Given the description of an element on the screen output the (x, y) to click on. 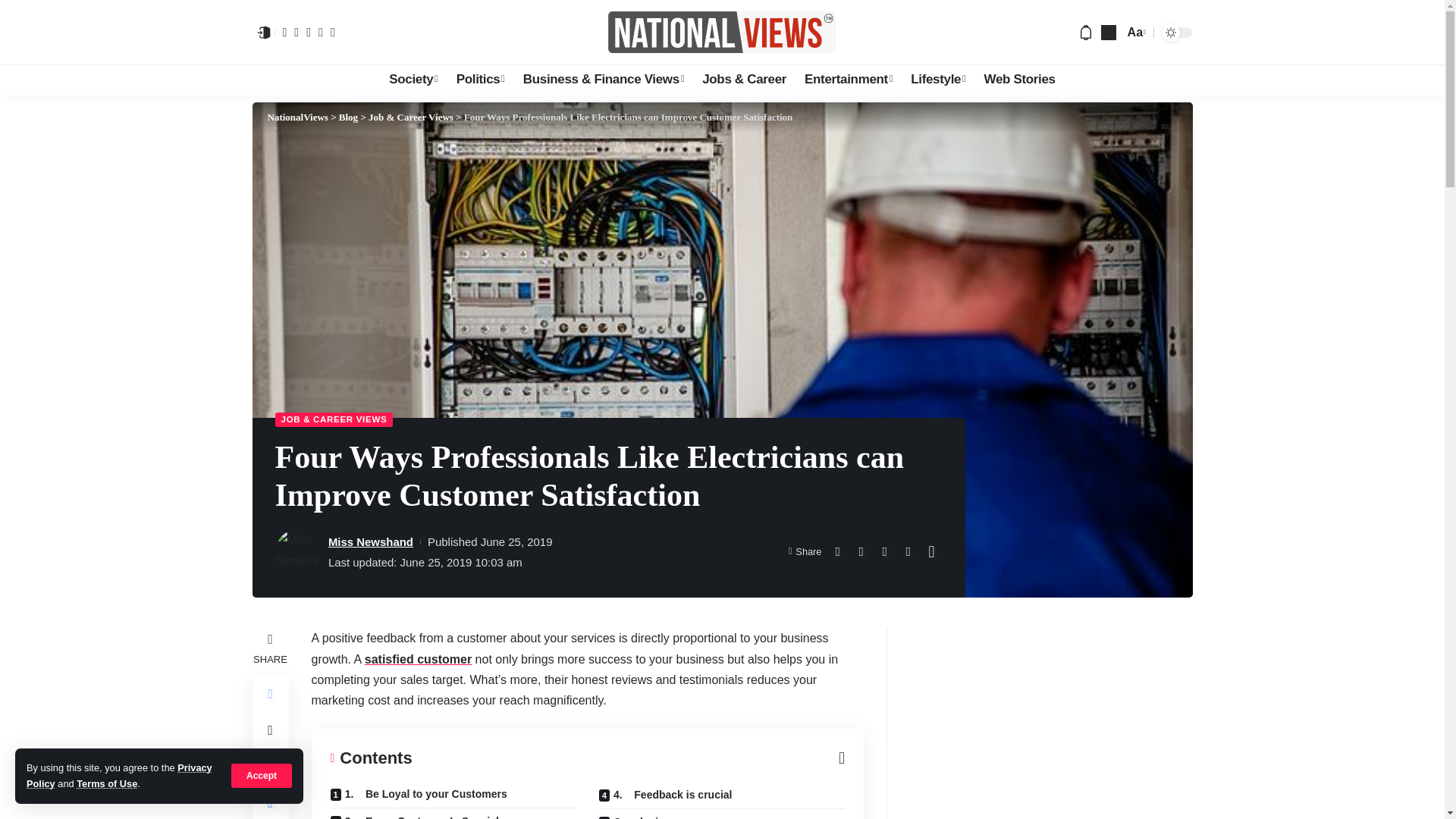
Accept (261, 775)
Privacy Policy (119, 775)
Aa (1135, 32)
Society (413, 79)
Politics (479, 79)
Go to NationalViews. (296, 116)
Entertainment (847, 79)
Terms of Use (106, 783)
NationalViews (721, 32)
Go to Blog. (348, 116)
